Given the description of an element on the screen output the (x, y) to click on. 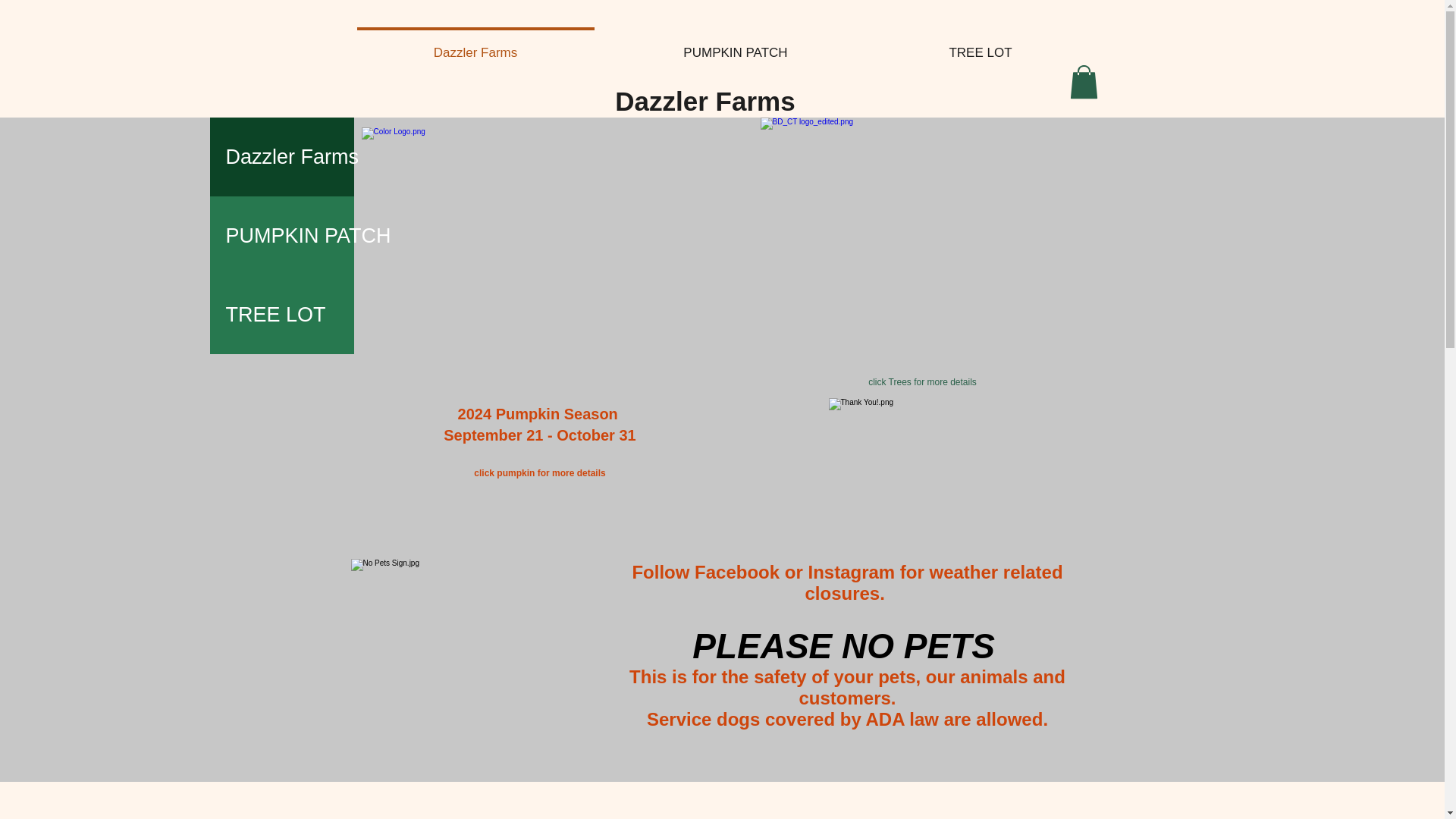
Dazzler Farms (475, 46)
PUMPKIN PATCH (281, 235)
Dazzler Farms (281, 156)
TREE LOT (979, 46)
TREE LOT (281, 314)
Dazzler Farms (704, 101)
PUMPKIN PATCH (735, 46)
Coming 2021!!! (922, 244)
